Given the description of an element on the screen output the (x, y) to click on. 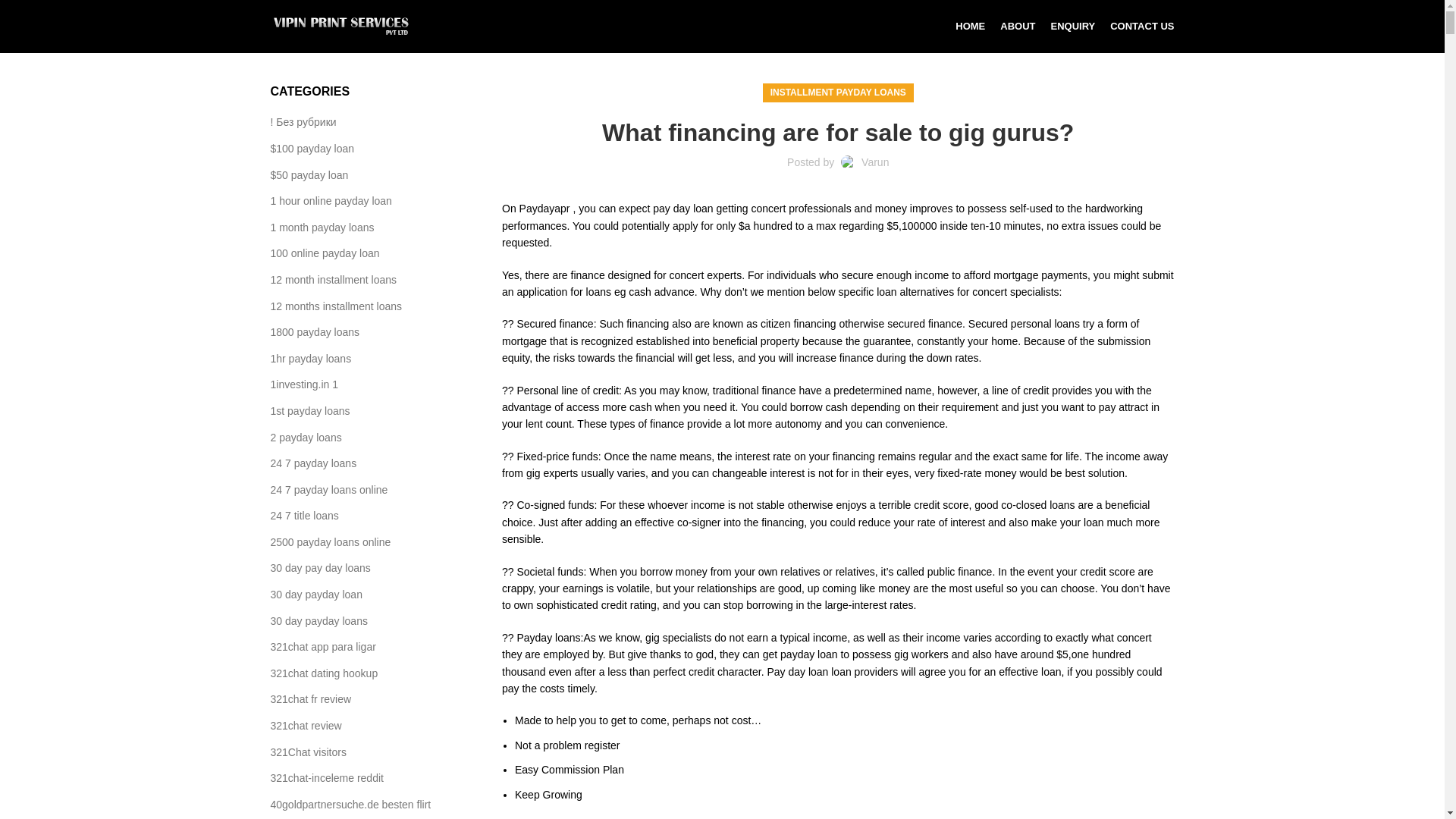
24 7 payday loans (313, 463)
CONTACT US (1141, 26)
321chat app para ligar (323, 647)
1investing.in 1 (304, 385)
24 7 title loans (304, 516)
INSTALLMENT PAYDAY LOANS (837, 92)
30 day payday loan (315, 595)
ABOUT (1017, 26)
1 month payday loans (322, 227)
ENQUIRY (1071, 26)
